Given the description of an element on the screen output the (x, y) to click on. 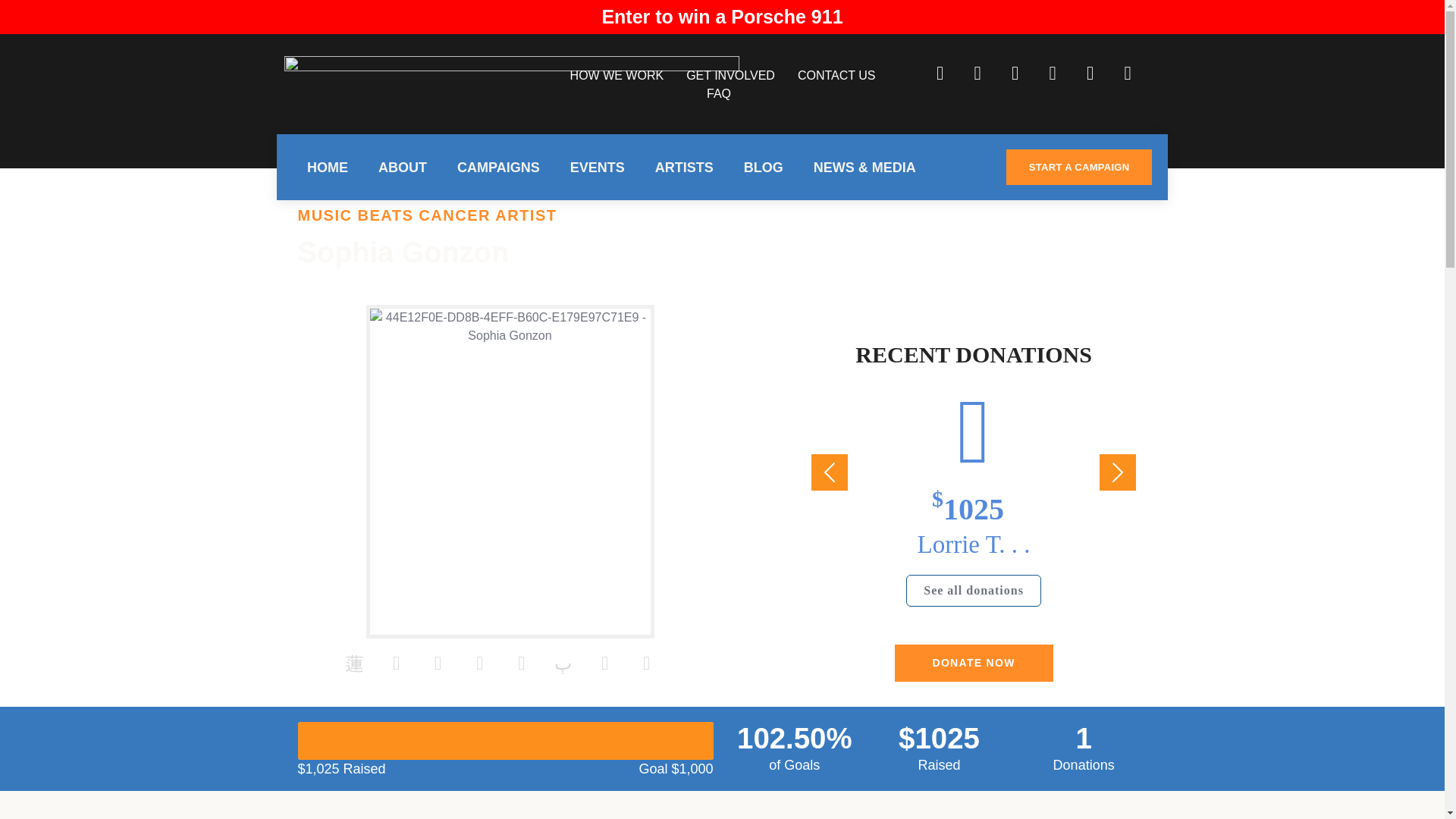
CONTACT US (836, 74)
FAQ (718, 92)
HOW WE WORK (616, 74)
Enter to win a Porsche 911 (722, 16)
GET INVOLVED (729, 74)
